Given the description of an element on the screen output the (x, y) to click on. 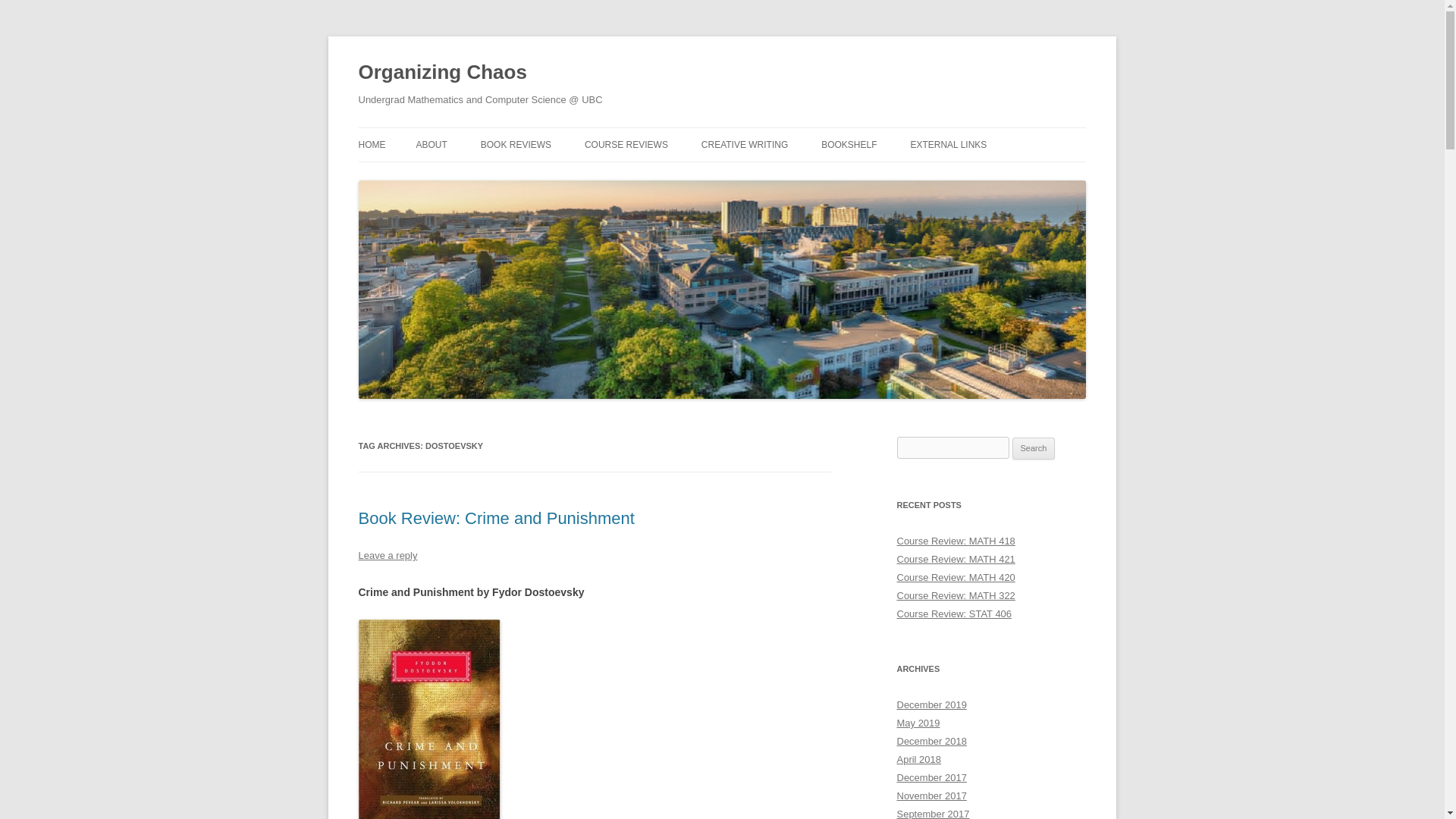
Search (1033, 448)
Course Review: MATH 421 (955, 559)
Course Review: MATH 418 (955, 541)
December 2018 (931, 740)
EXTERNAL LINKS (948, 144)
Book Review: Crime and Punishment (495, 517)
COURSE REVIEWS (626, 144)
December 2017 (931, 777)
CREATIVE WRITING (744, 144)
BOOK REVIEWS (515, 144)
Course Review: STAT 406 (953, 613)
Organizing Chaos (441, 72)
December 2019 (931, 704)
